Given the description of an element on the screen output the (x, y) to click on. 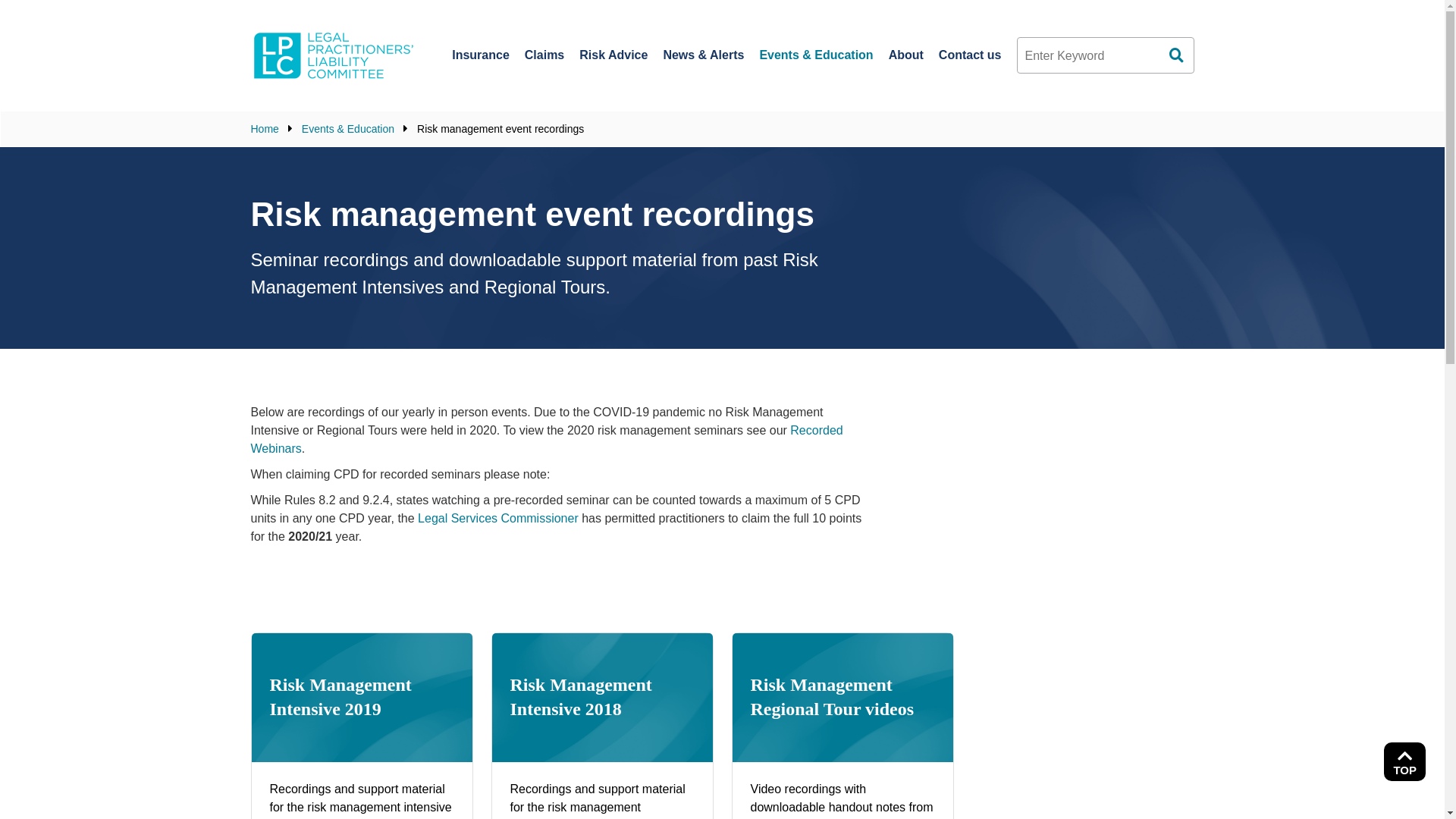
Risk Advice Element type: text (613, 55)
Recorded Webinars Element type: text (546, 439)
Insurance Element type: text (480, 55)
TOP Element type: text (1404, 761)
About Element type: text (906, 55)
Claims Element type: text (544, 55)
Events & Education Element type: text (347, 128)
Contact us Element type: text (970, 55)
Legal Services Commissioner Element type: text (497, 517)
Home Element type: text (264, 128)
News & Alerts Element type: text (703, 55)
Events & Education Element type: text (815, 55)
